Given the description of an element on the screen output the (x, y) to click on. 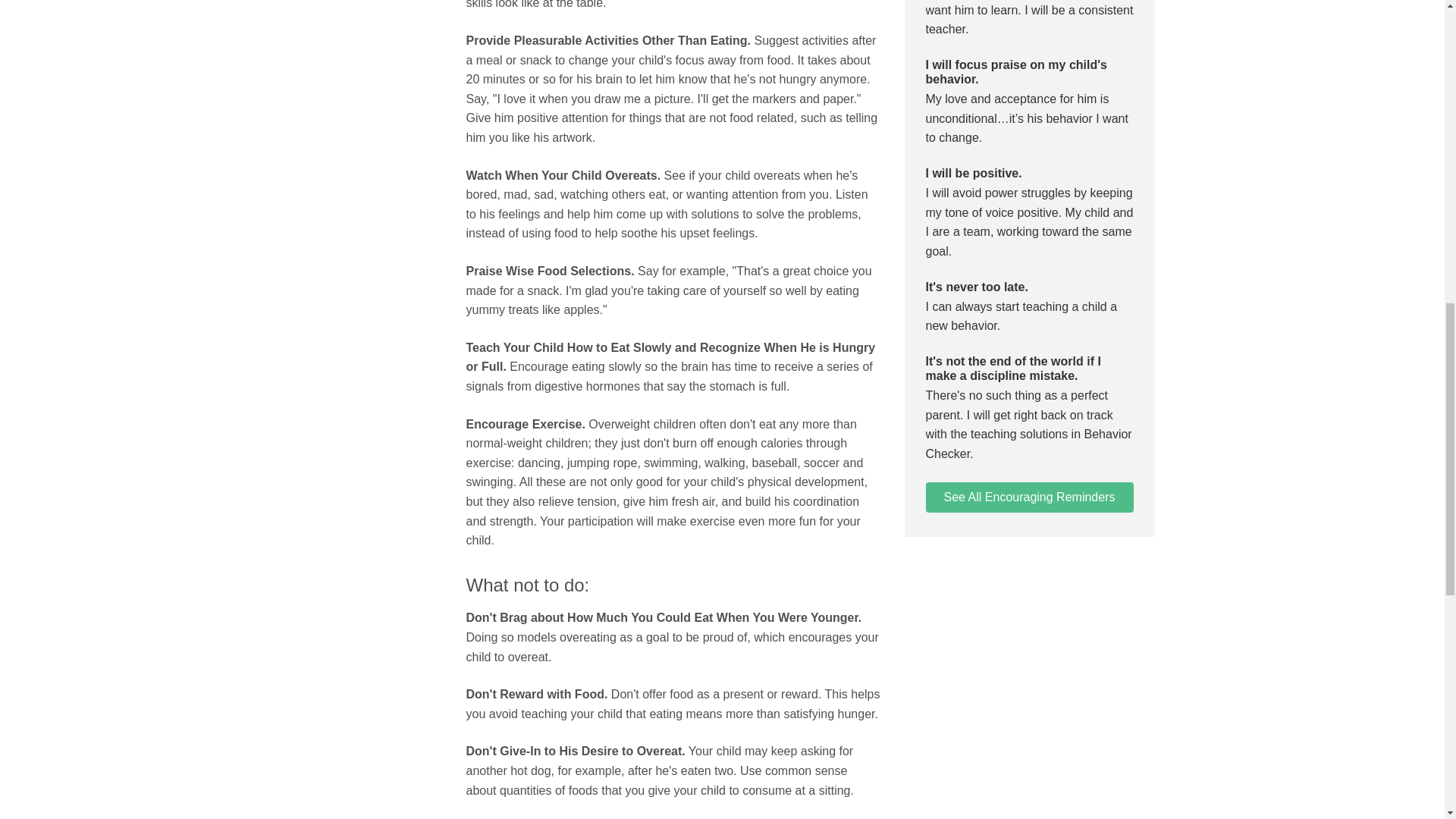
See All Encouraging Reminders (1028, 497)
